Given the description of an element on the screen output the (x, y) to click on. 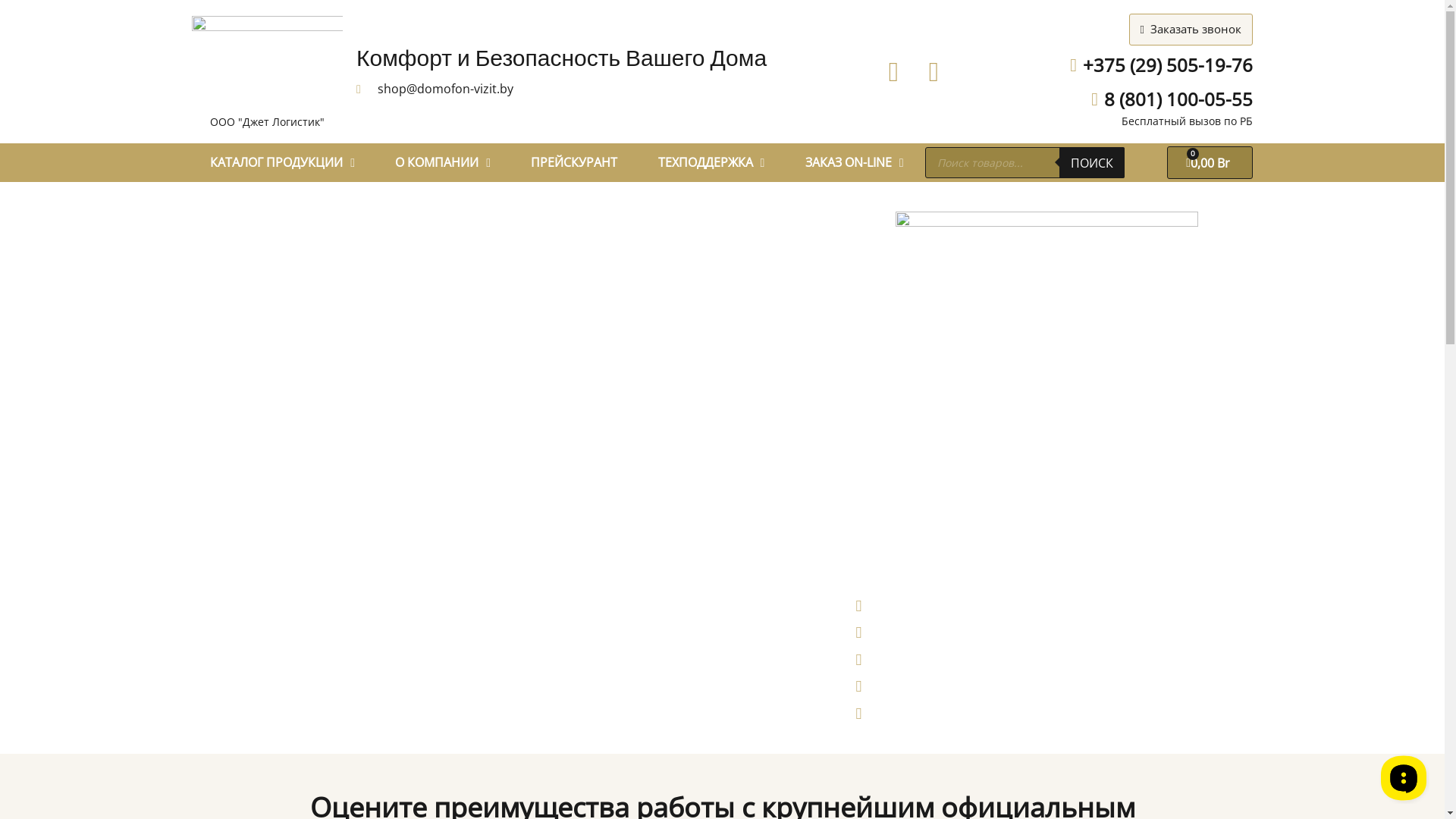
8 (801) 100-05-55 Element type: text (1163, 99)
+375 (29) 505-19-76 Element type: text (1153, 65)
0,00 Br Element type: text (1209, 162)
shop@domofon-vizit.by Element type: text (434, 89)
__replain_widget_iframe Element type: hover (1402, 776)
